Given the description of an element on the screen output the (x, y) to click on. 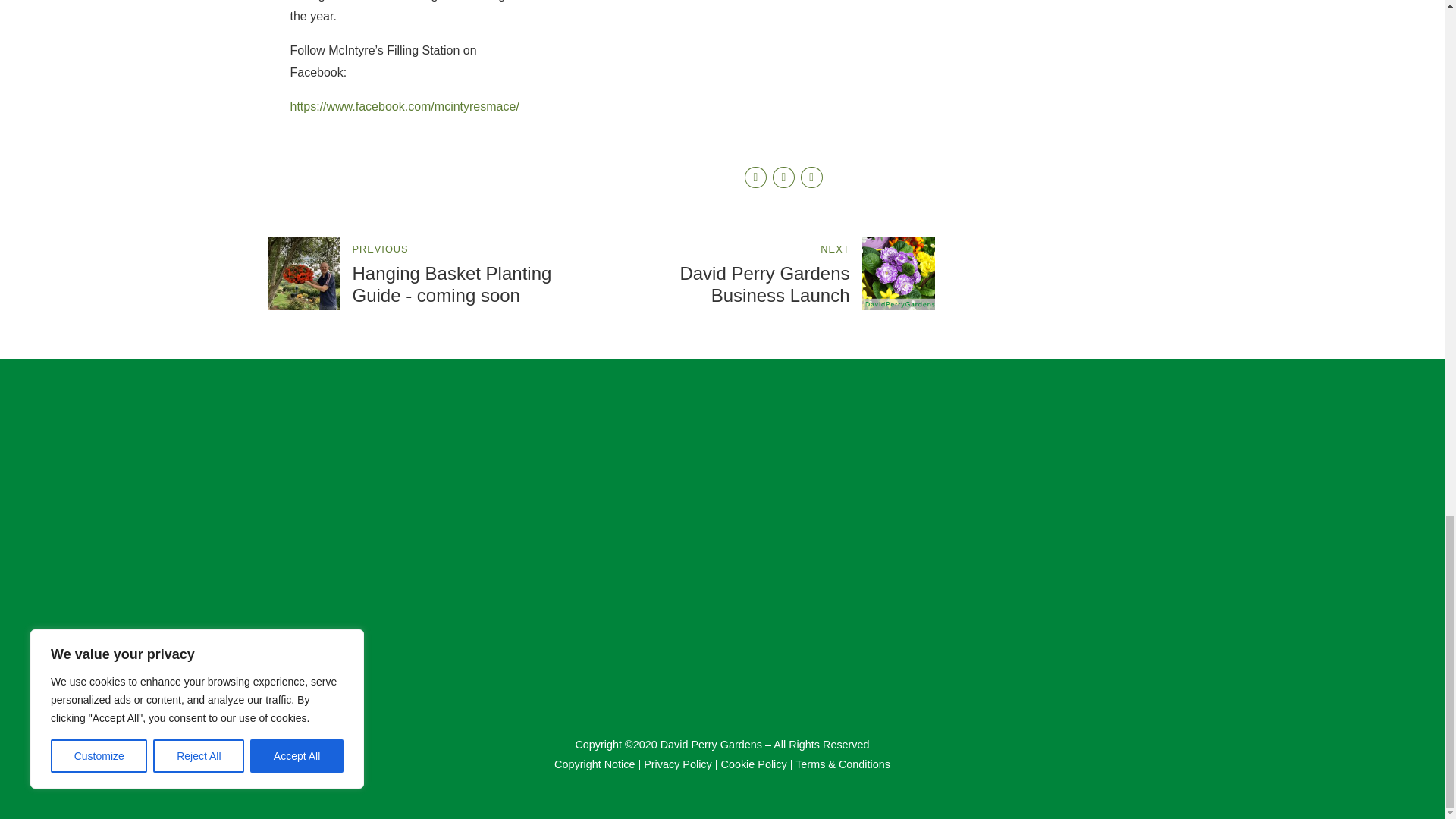
Share on Facebook (755, 178)
Share on Twitter (783, 178)
Share on Linkedin (811, 178)
